Given the description of an element on the screen output the (x, y) to click on. 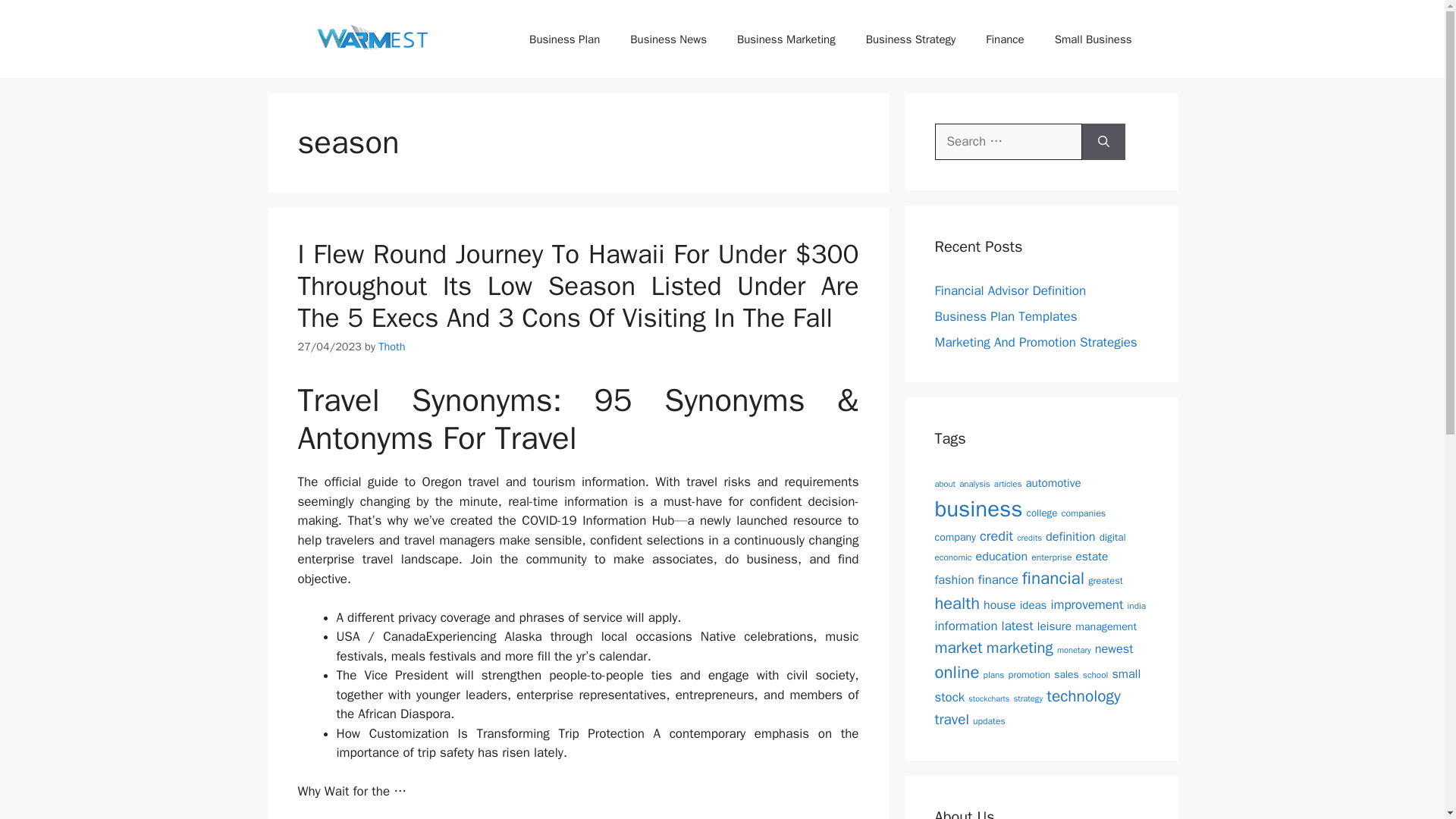
articles (1008, 483)
Business Strategy (910, 39)
Business Plan Templates (1005, 316)
Business Plan (563, 39)
Business News (668, 39)
Finance (1005, 39)
Business Marketing (786, 39)
about (944, 483)
analysis (974, 483)
Marketing And Promotion Strategies (1035, 342)
